Given the description of an element on the screen output the (x, y) to click on. 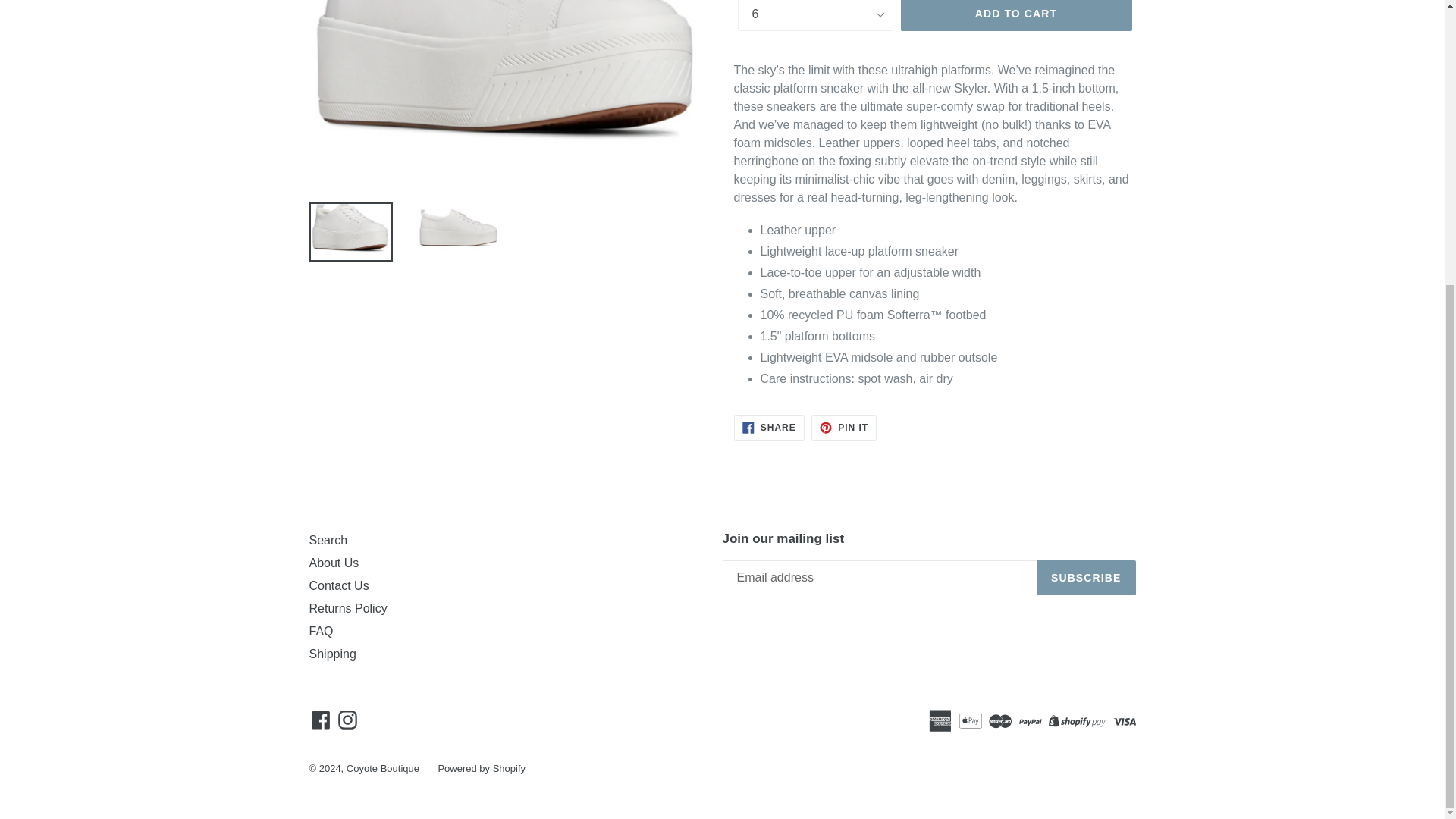
Coyote Boutique on Instagram (347, 719)
Share on Facebook (769, 427)
Coyote Boutique on Facebook (320, 719)
Pin on Pinterest (843, 427)
